Given the description of an element on the screen output the (x, y) to click on. 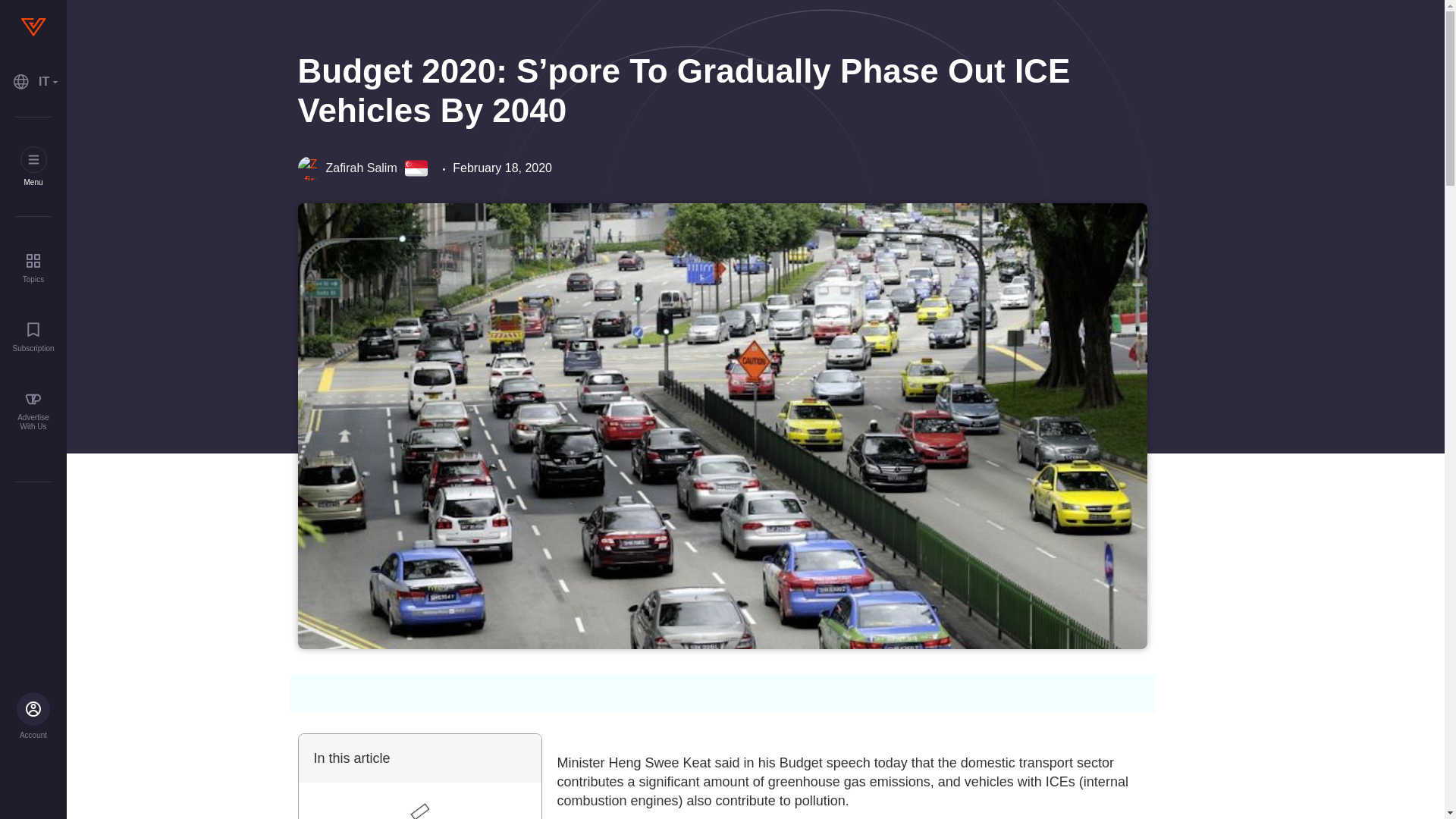
Advertise With Us (33, 410)
Subscription (33, 336)
Zafirah Salim (346, 168)
Topics (33, 267)
Menu (33, 166)
IT (33, 81)
